Given the description of an element on the screen output the (x, y) to click on. 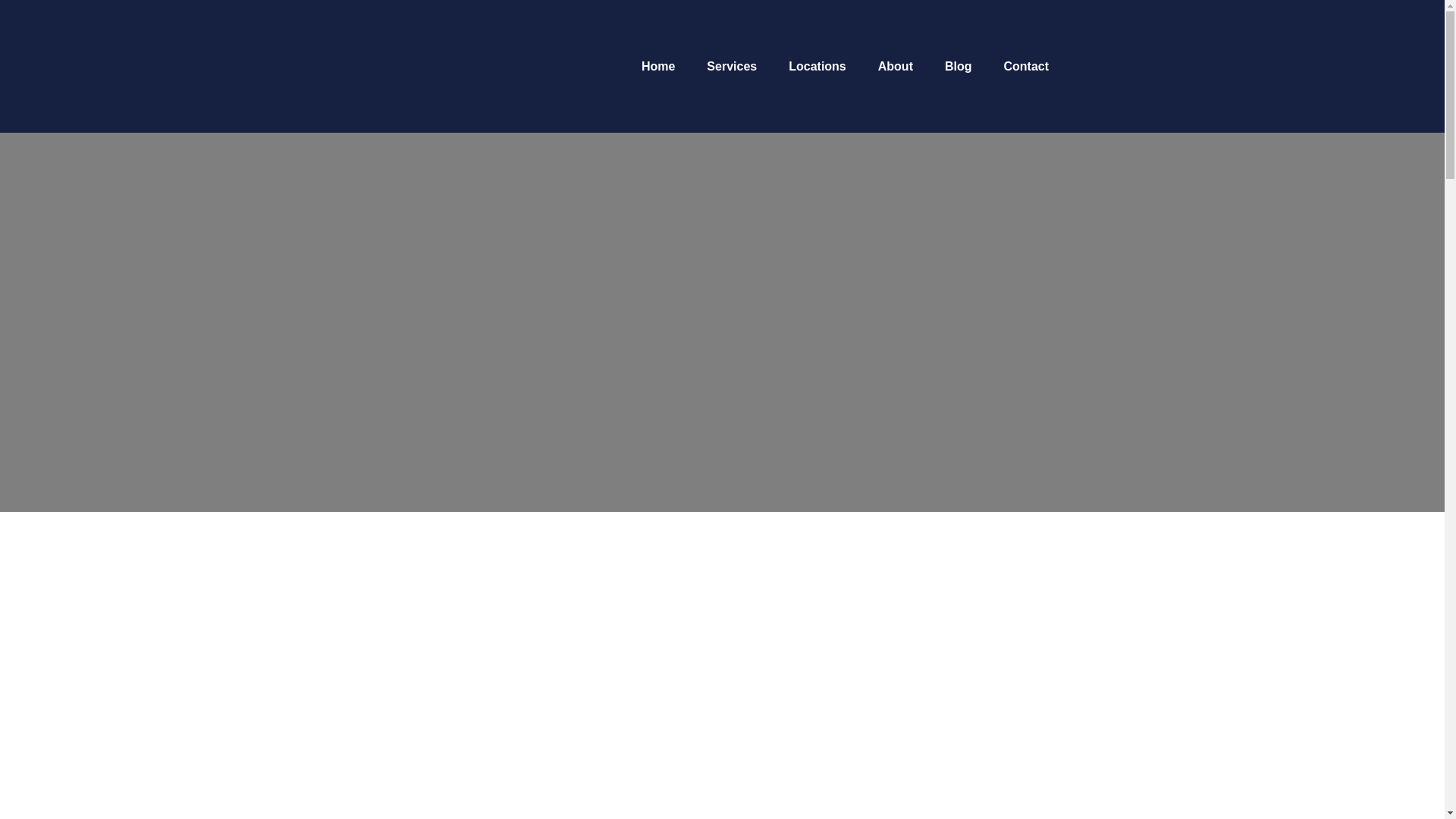
Locations (817, 66)
Services (731, 66)
About (895, 66)
Contact (1026, 66)
Home (658, 66)
Blog (958, 66)
